Given the description of an element on the screen output the (x, y) to click on. 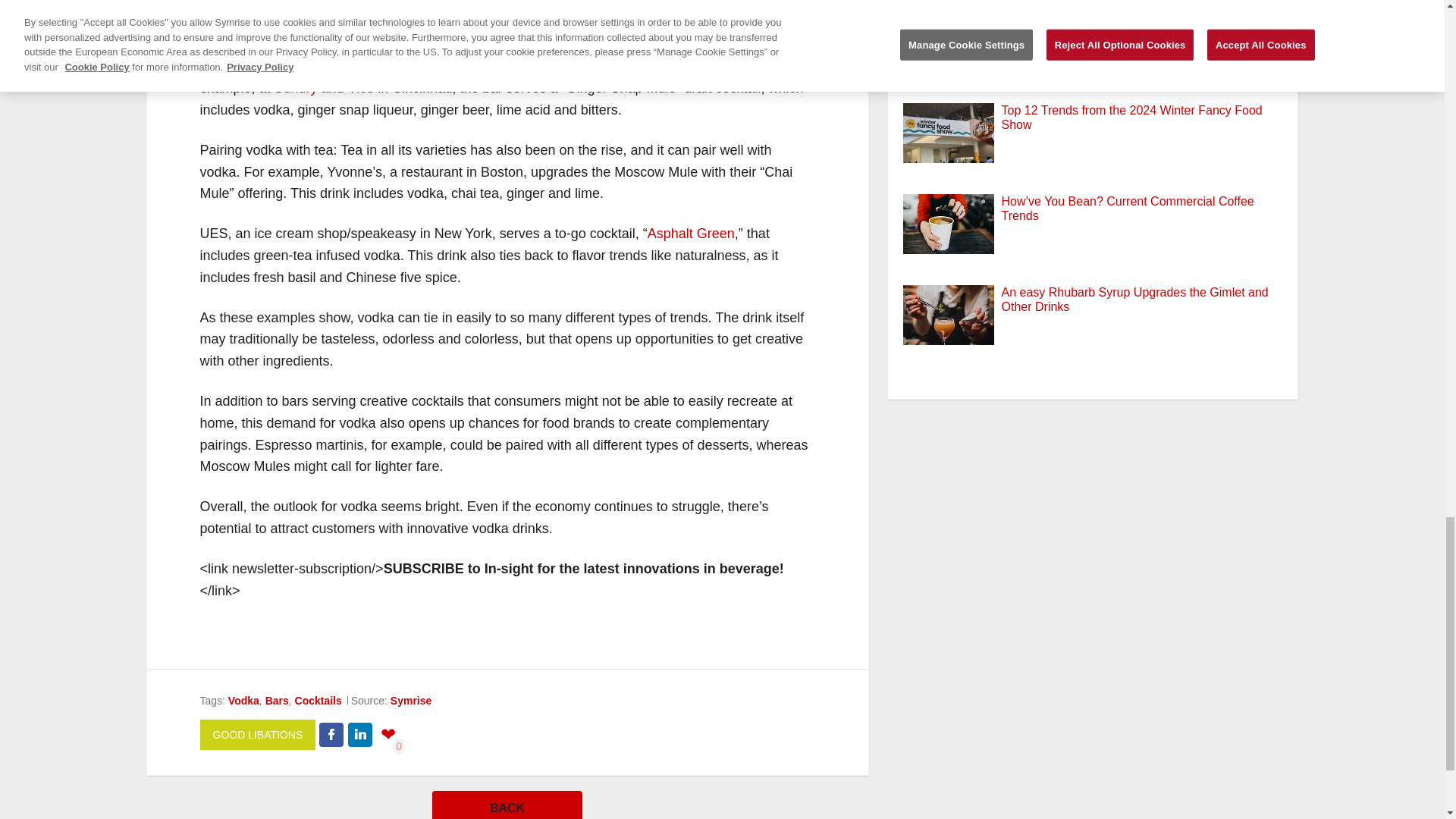
Asphalt Green (691, 233)
Opens external link in new window (324, 87)
GOOD LIBATIONS (257, 735)
Vodka (243, 700)
Sundry and Vice (324, 87)
Opens external link in new window (691, 233)
Cocktails (318, 700)
Symrise (410, 700)
Bars (276, 700)
BACK (507, 805)
